Given the description of an element on the screen output the (x, y) to click on. 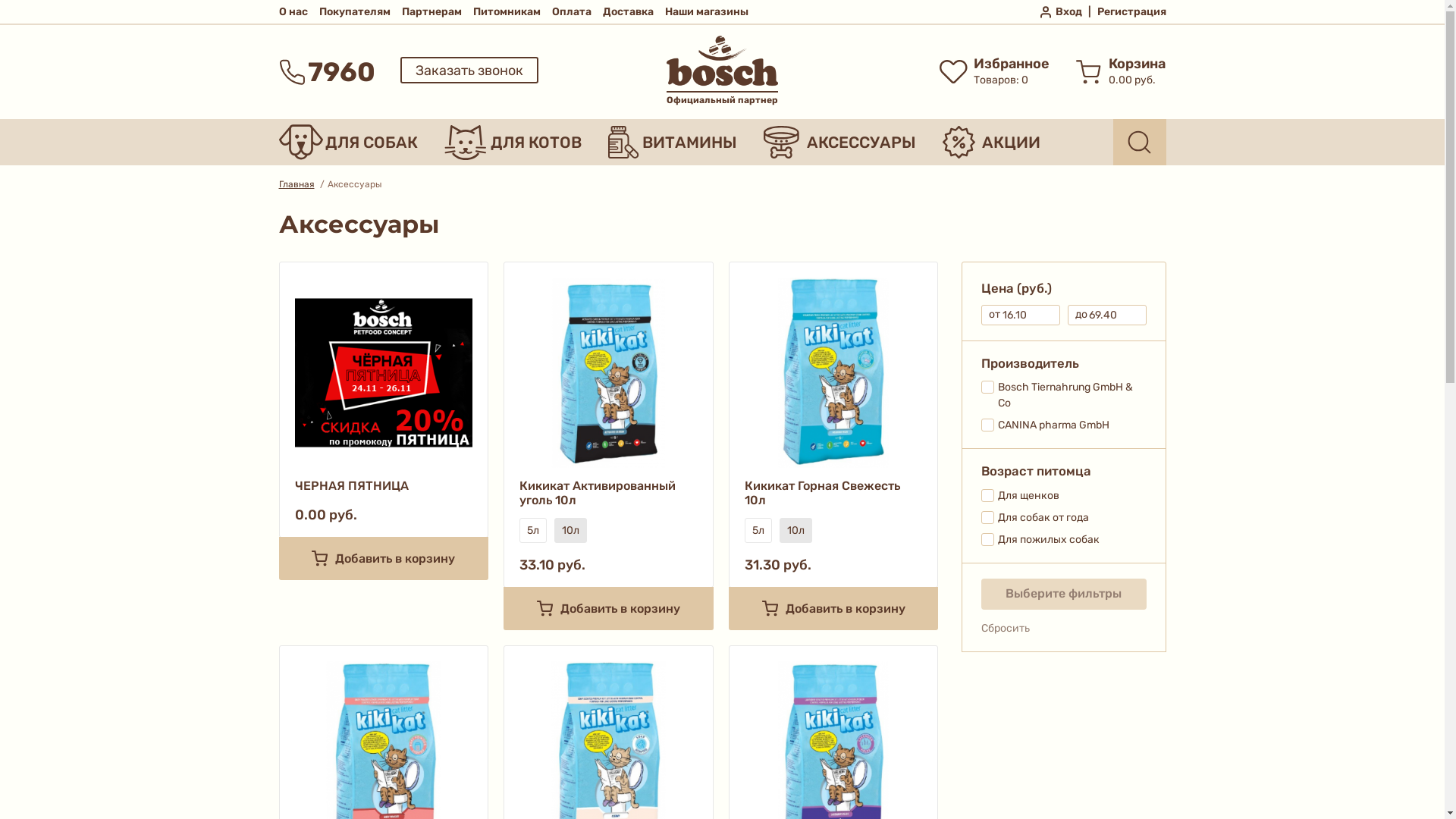
Bosch Tiernahrung GmbH & Co Element type: text (1063, 395)
7960 Element type: text (327, 71)
CANINA pharma GmbH Element type: text (1063, 425)
